Given the description of an element on the screen output the (x, y) to click on. 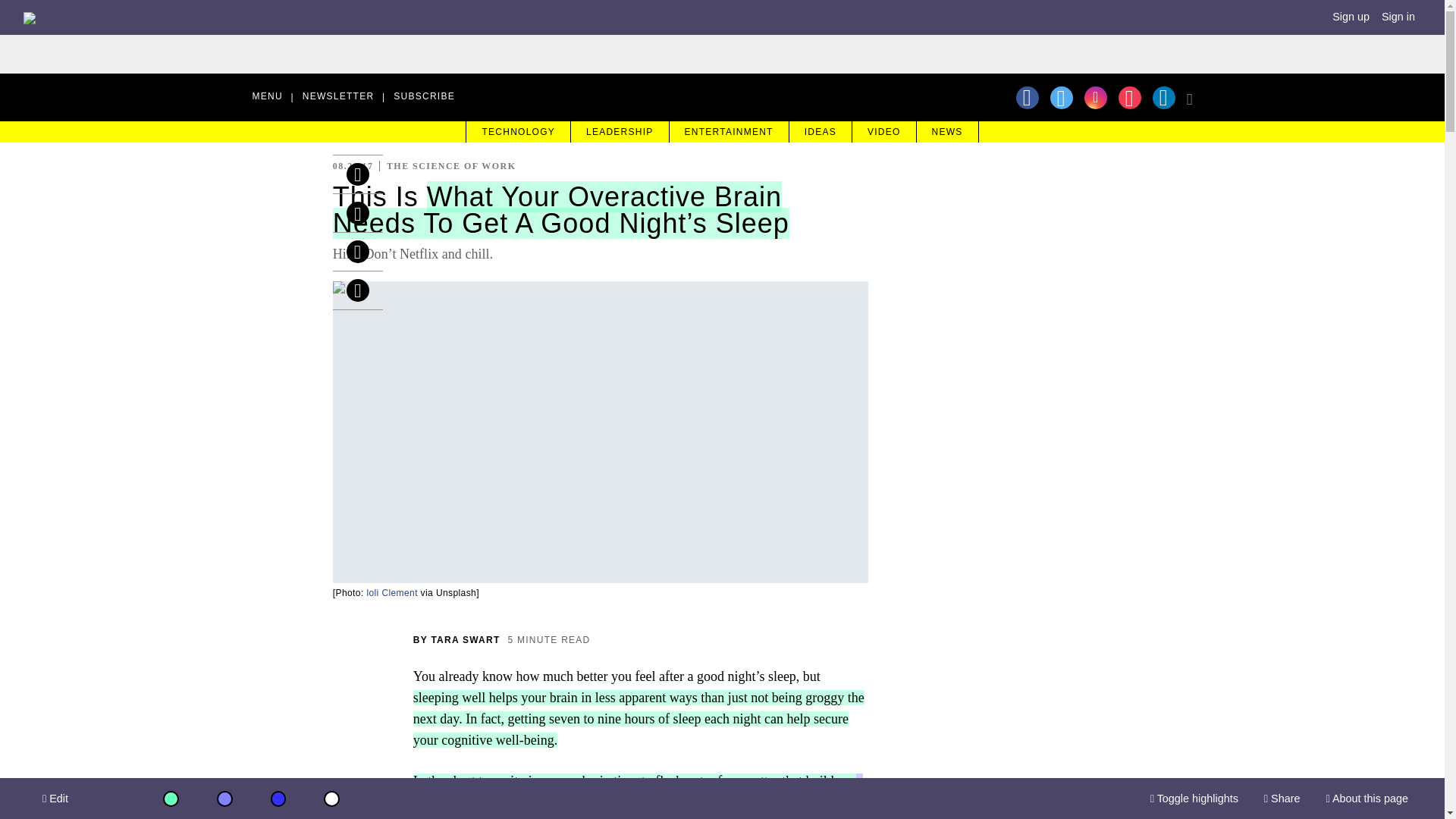
About this page (1367, 799)
Toggle highlights (1193, 799)
Sign in (1398, 17)
Edit (55, 799)
Share (1281, 799)
Sign up (1350, 17)
